Given the description of an element on the screen output the (x, y) to click on. 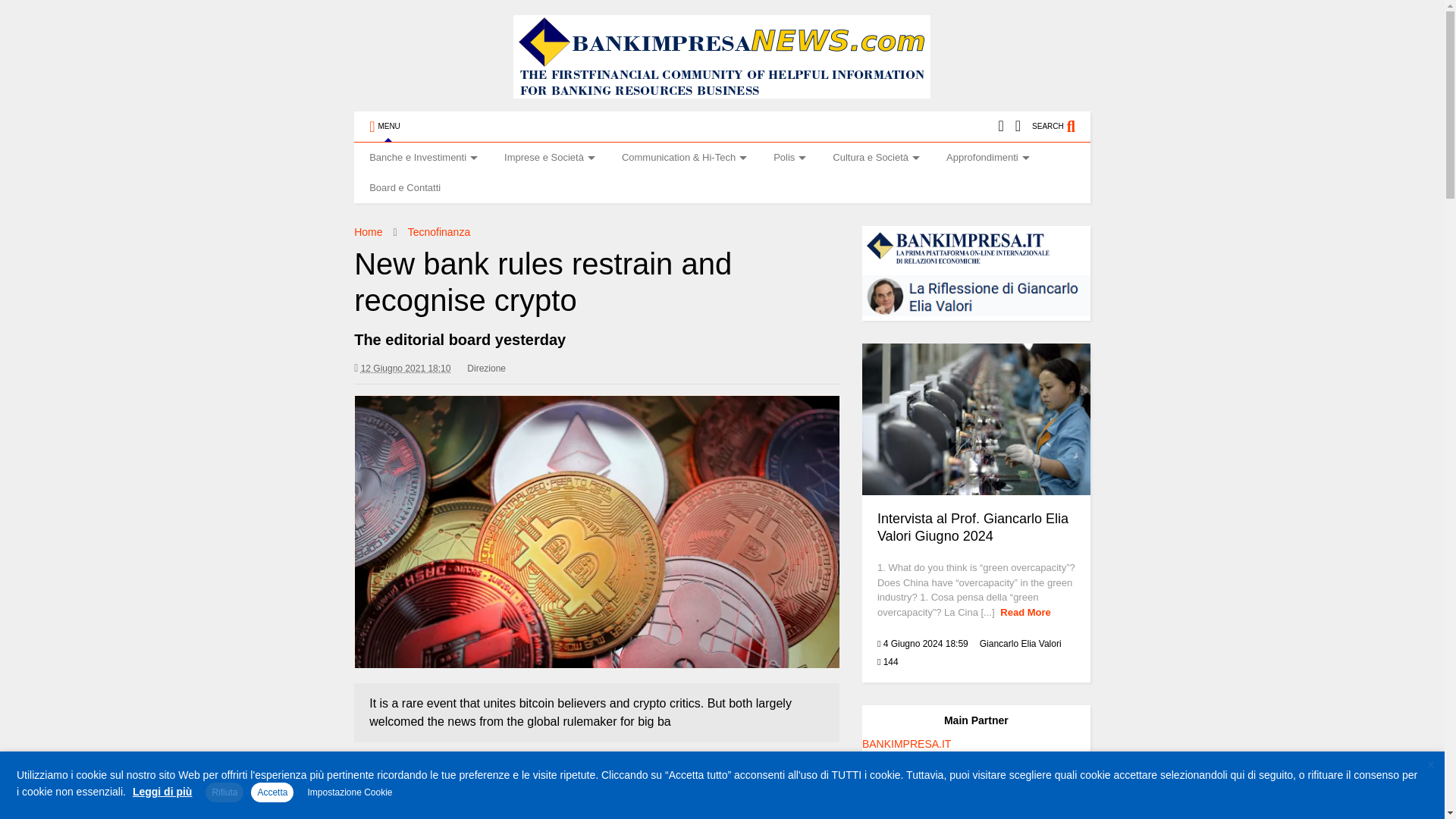
12 Giugno 2021 10:12 (406, 368)
Approfondimenti (986, 157)
Board e Contatti (404, 187)
New bank rules restrain and recognise crypto (596, 531)
SEARCH (1061, 126)
MENU (383, 126)
bankimpresanews.com (721, 91)
Banche e Investimenti (421, 157)
Facebook (1017, 126)
Polis (787, 157)
Direzione (486, 368)
Spie: Taiwan a caccia di 007cinesi (451, 761)
Linkedin (1000, 126)
